Given the description of an element on the screen output the (x, y) to click on. 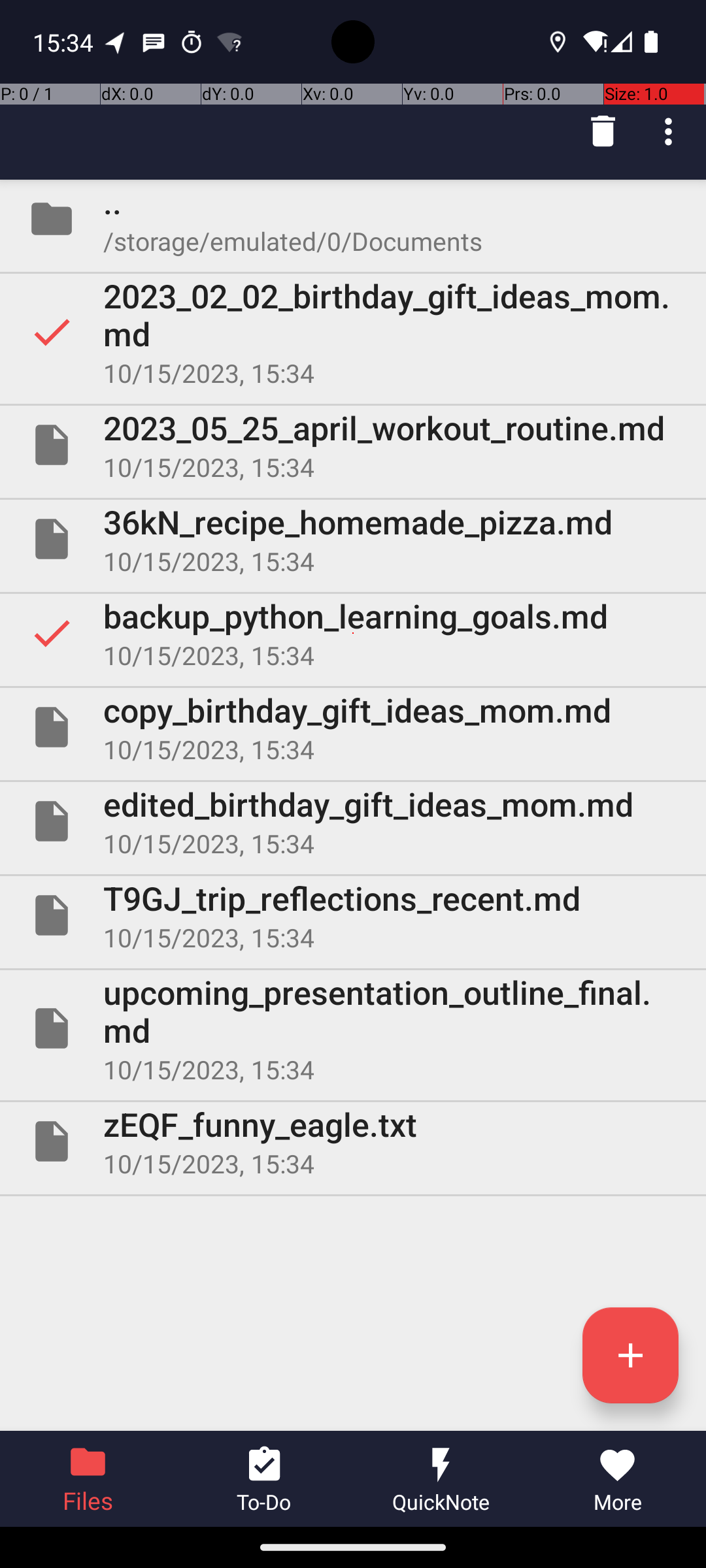
Selected 2023_02_02_birthday_gift_ideas_mom.md  Element type: android.widget.LinearLayout (353, 331)
File 2023_05_25_april_workout_routine.md  Element type: android.widget.LinearLayout (353, 444)
File 36kN_recipe_homemade_pizza.md  Element type: android.widget.LinearLayout (353, 538)
Selected backup_python_learning_goals.md 10/15/2023, 15:34 Element type: android.widget.LinearLayout (353, 632)
File copy_birthday_gift_ideas_mom.md  Element type: android.widget.LinearLayout (353, 726)
File edited_birthday_gift_ideas_mom.md  Element type: android.widget.LinearLayout (353, 821)
File T9GJ_trip_reflections_recent.md  Element type: android.widget.LinearLayout (353, 915)
File upcoming_presentation_outline_final.md  Element type: android.widget.LinearLayout (353, 1028)
File zEQF_funny_eagle.txt  Element type: android.widget.LinearLayout (353, 1141)
